Given the description of an element on the screen output the (x, y) to click on. 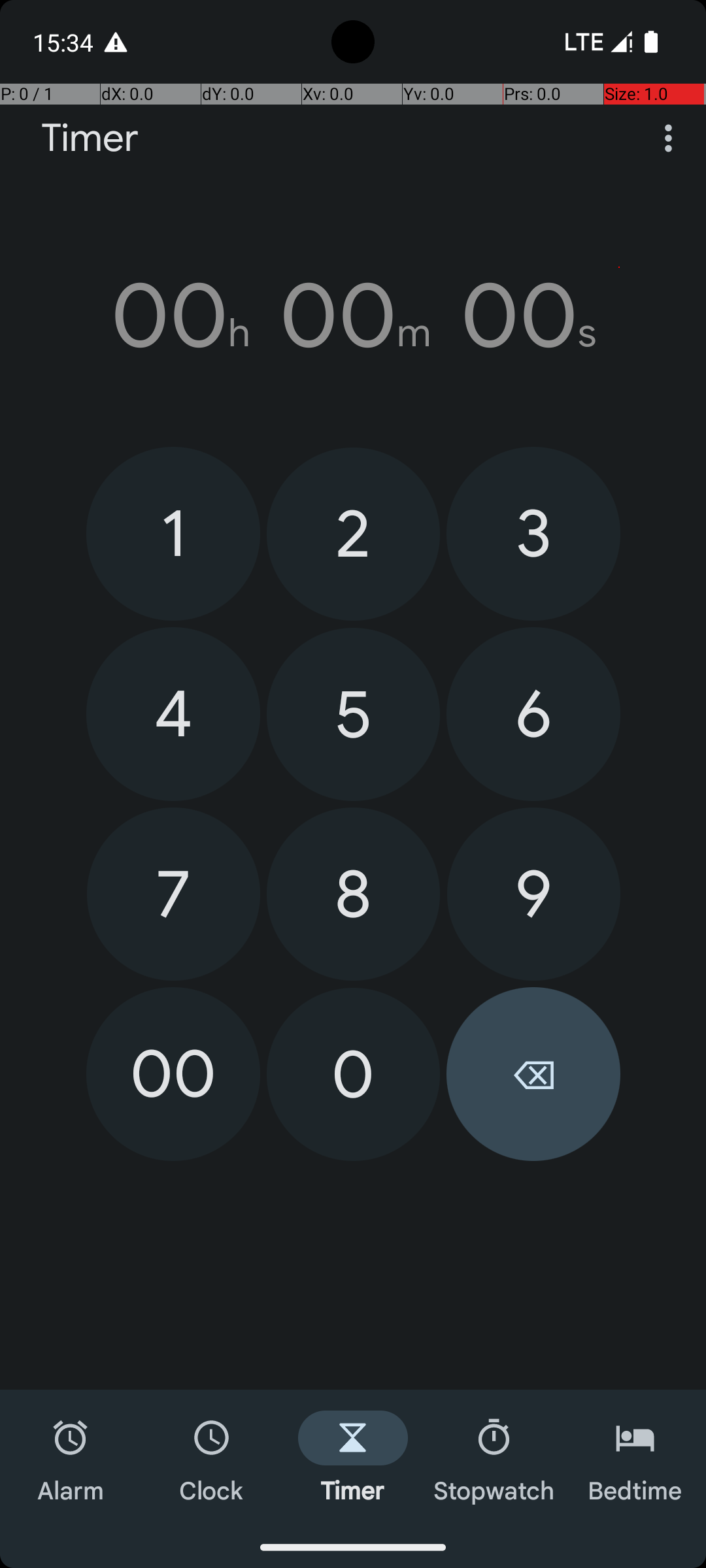
00h 00m 00s Element type: android.widget.TextView (353, 315)
